Given the description of an element on the screen output the (x, y) to click on. 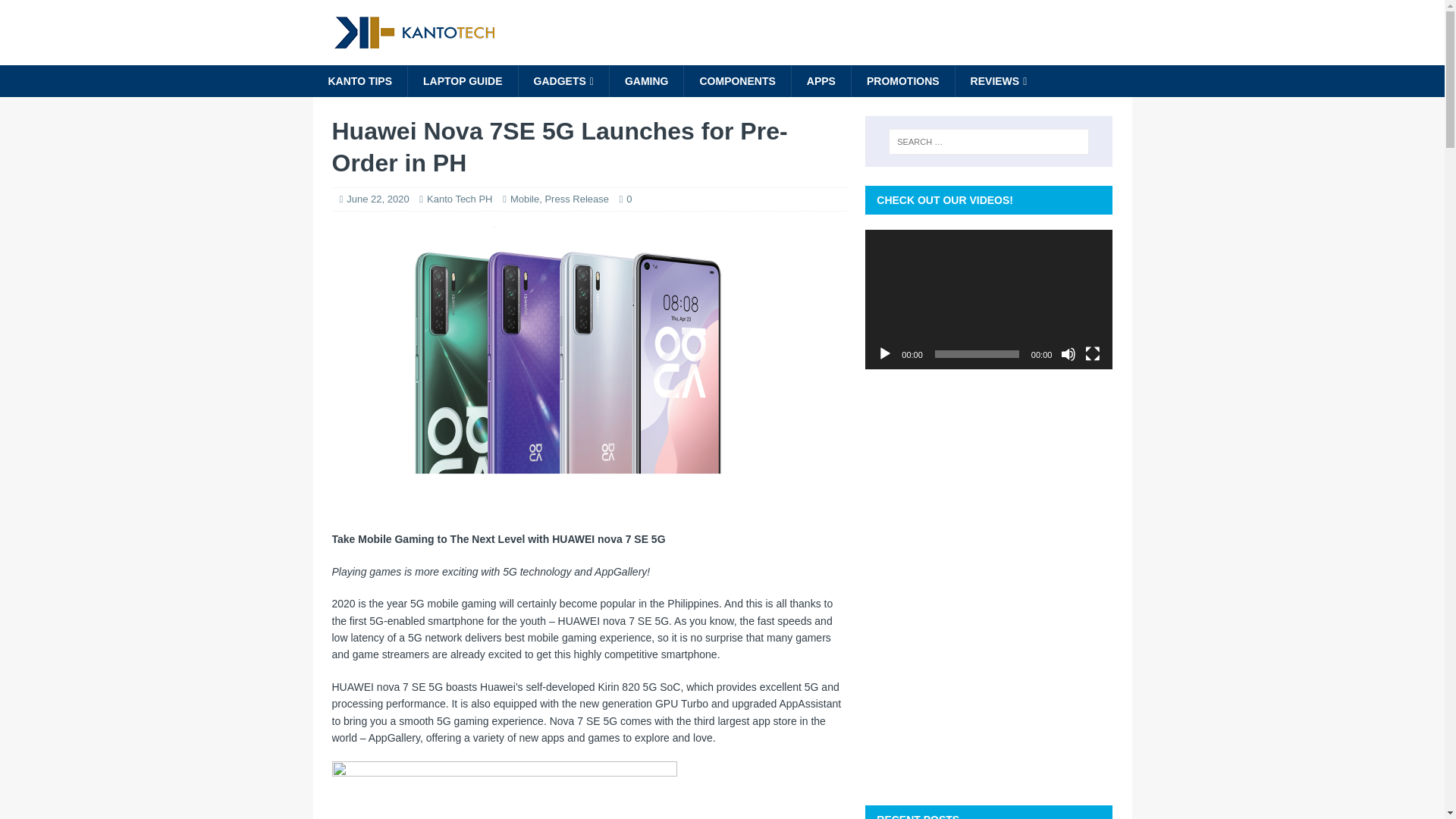
GAMING (646, 81)
Mute (1068, 353)
REVIEWS (998, 81)
Fullscreen (1092, 353)
APPS (820, 81)
GADGETS (563, 81)
KANTO TIPS (360, 81)
Kanto Tech PH (459, 198)
COMPONENTS (736, 81)
